Given the description of an element on the screen output the (x, y) to click on. 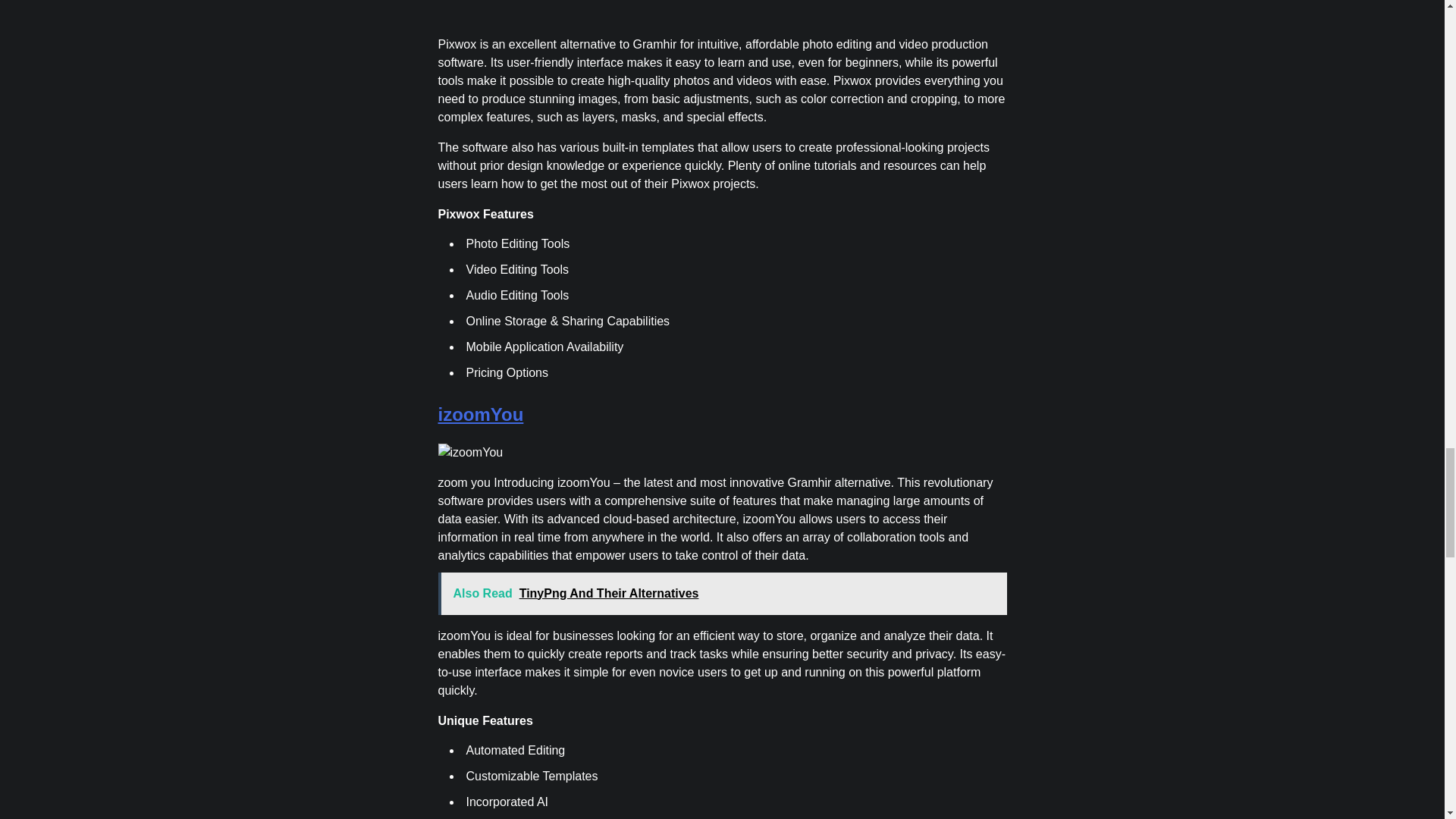
Also Read  TinyPng And Their Alternatives (722, 593)
izoomYou (481, 414)
